Given the description of an element on the screen output the (x, y) to click on. 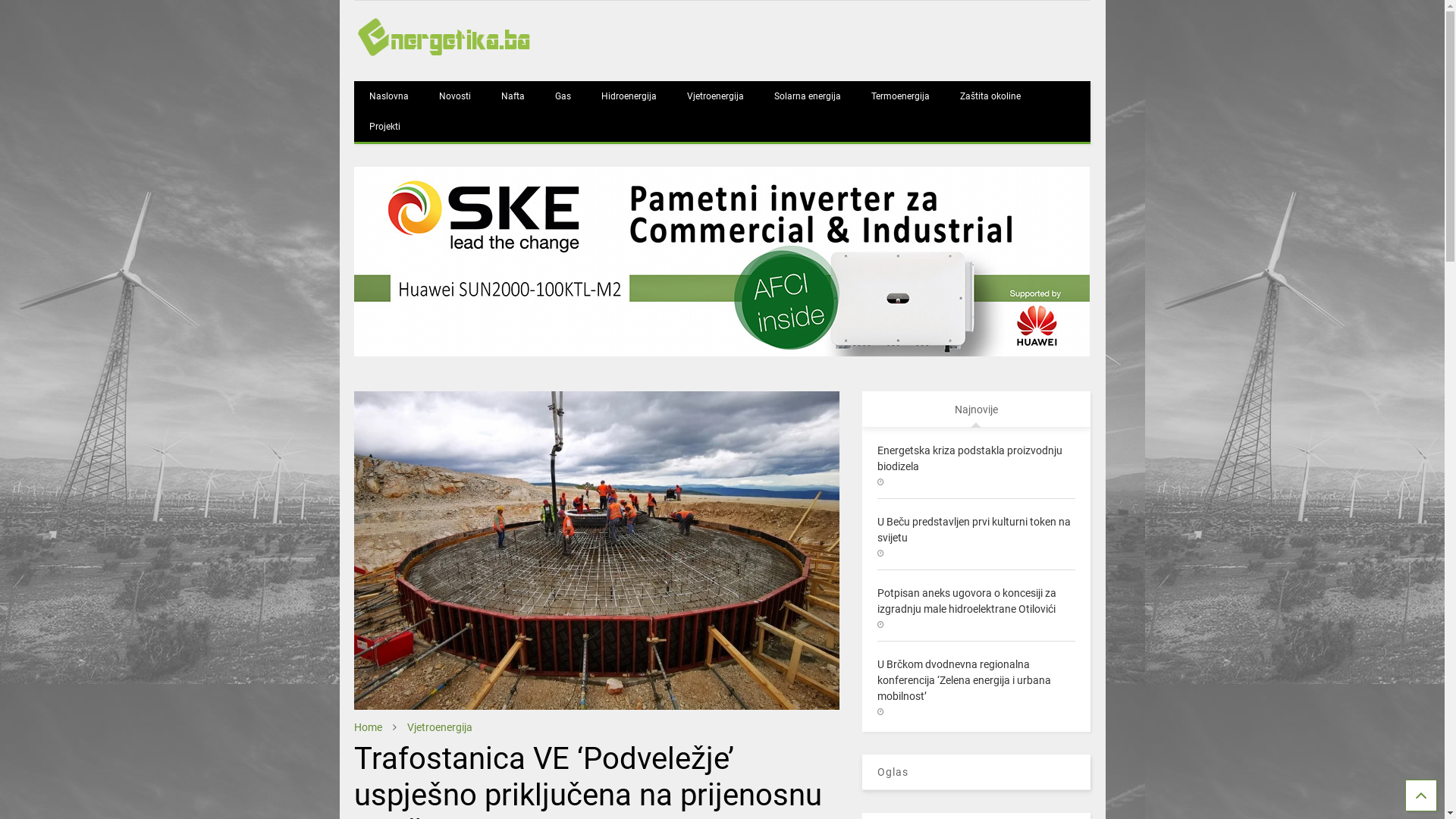
Hidroenergija Element type: text (628, 96)
Vjetroenergija Element type: text (439, 727)
Termoenergija Element type: text (900, 96)
Energetika.ba Element type: hover (445, 54)
Energetska kriza podstakla proizvodnju biodizela Element type: text (969, 458)
Solarna energija Element type: text (807, 96)
Projekti Element type: text (384, 126)
Naslovna Element type: text (388, 96)
3rd party ad content Element type: hover (721, 261)
Nafta Element type: text (512, 96)
Novosti Element type: text (454, 96)
Vjetroenergija Element type: text (715, 96)
Najnovije Element type: text (976, 408)
Home Element type: text (368, 727)
Gas Element type: text (562, 96)
